Given the description of an element on the screen output the (x, y) to click on. 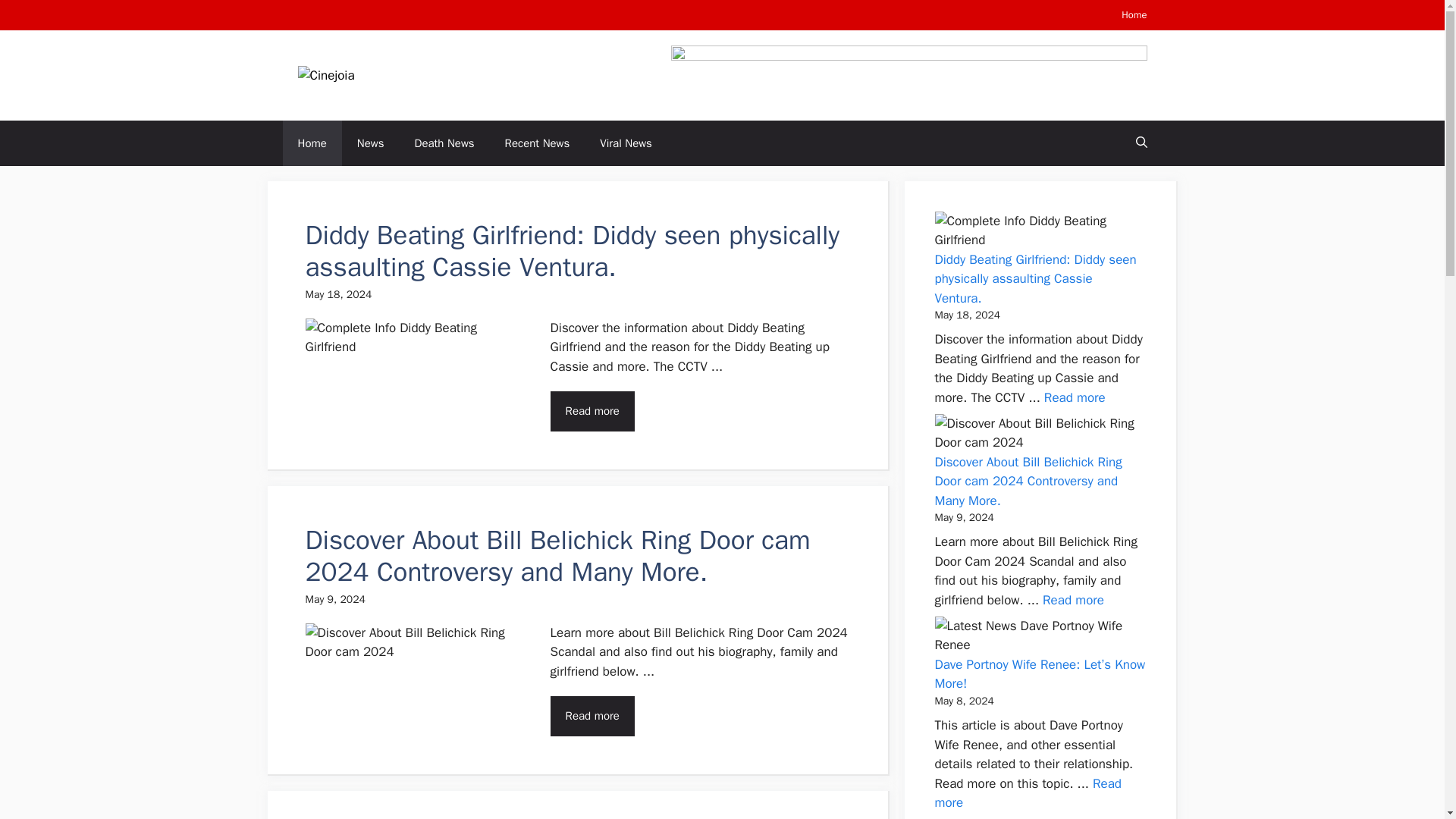
Read more (592, 716)
Read more (1027, 793)
Read more (592, 411)
Death News (443, 142)
Recent News (537, 142)
News (370, 142)
Viral News (625, 142)
Read more (1072, 600)
Read more (1074, 397)
Home (1134, 14)
